Given the description of an element on the screen output the (x, y) to click on. 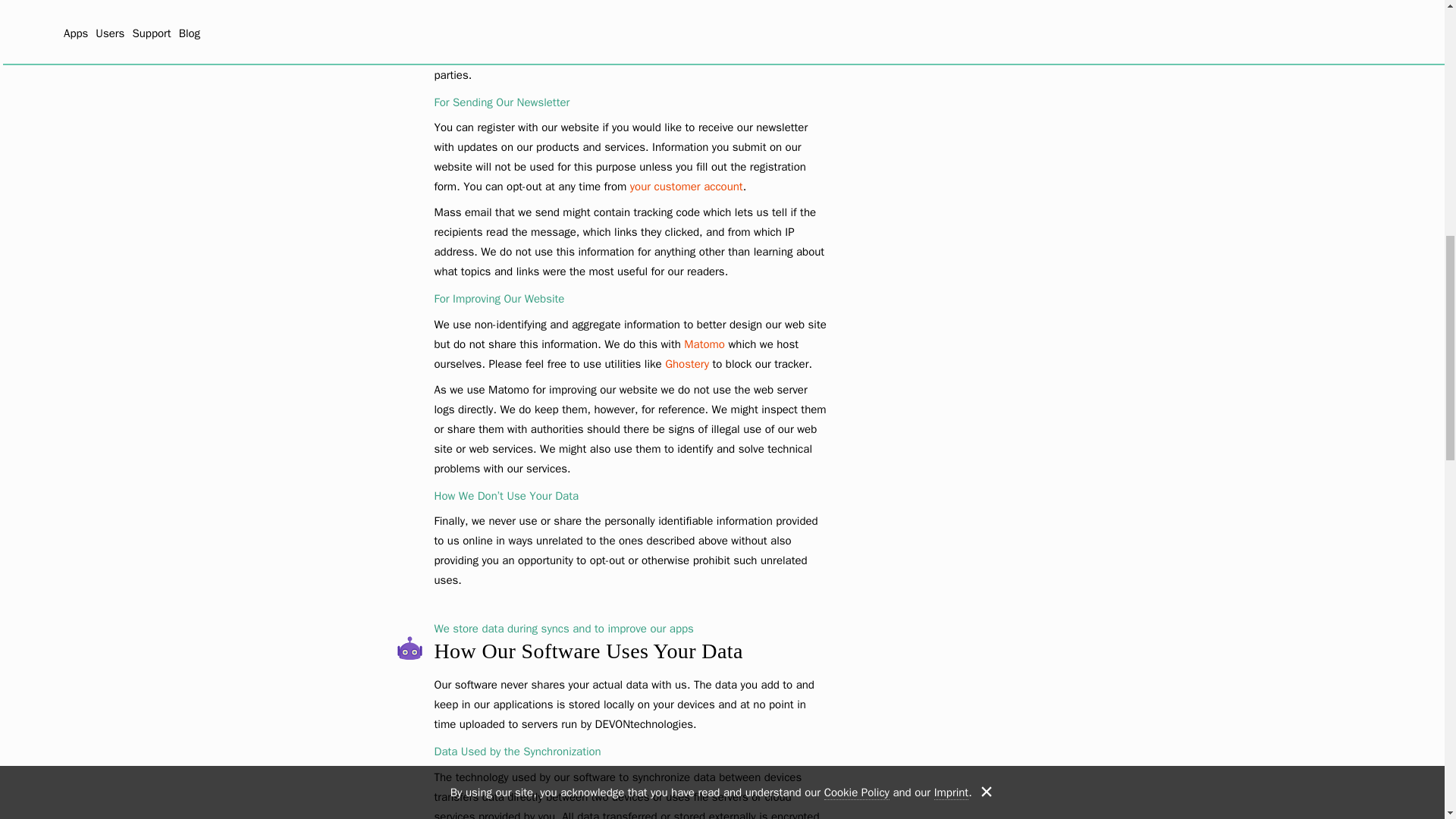
your customer account (686, 186)
Ghostery (687, 363)
Matomo (704, 343)
